Given the description of an element on the screen output the (x, y) to click on. 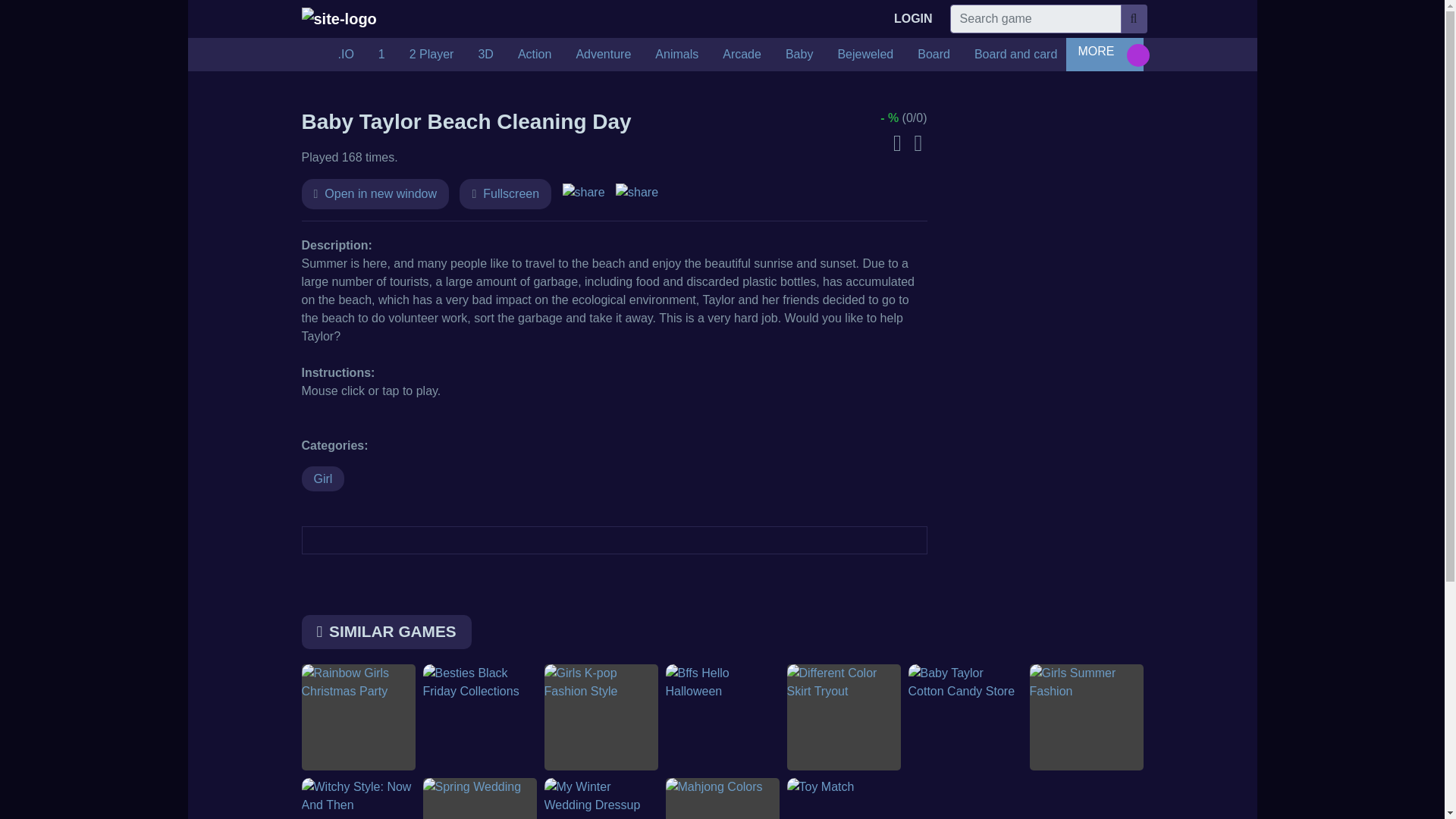
Action (534, 54)
Board (933, 54)
Arcade (741, 54)
.IO (346, 54)
1 (381, 54)
2 Player (431, 54)
3D (485, 54)
Bejeweled (865, 54)
Animals (676, 54)
Baby (799, 54)
